Given the description of an element on the screen output the (x, y) to click on. 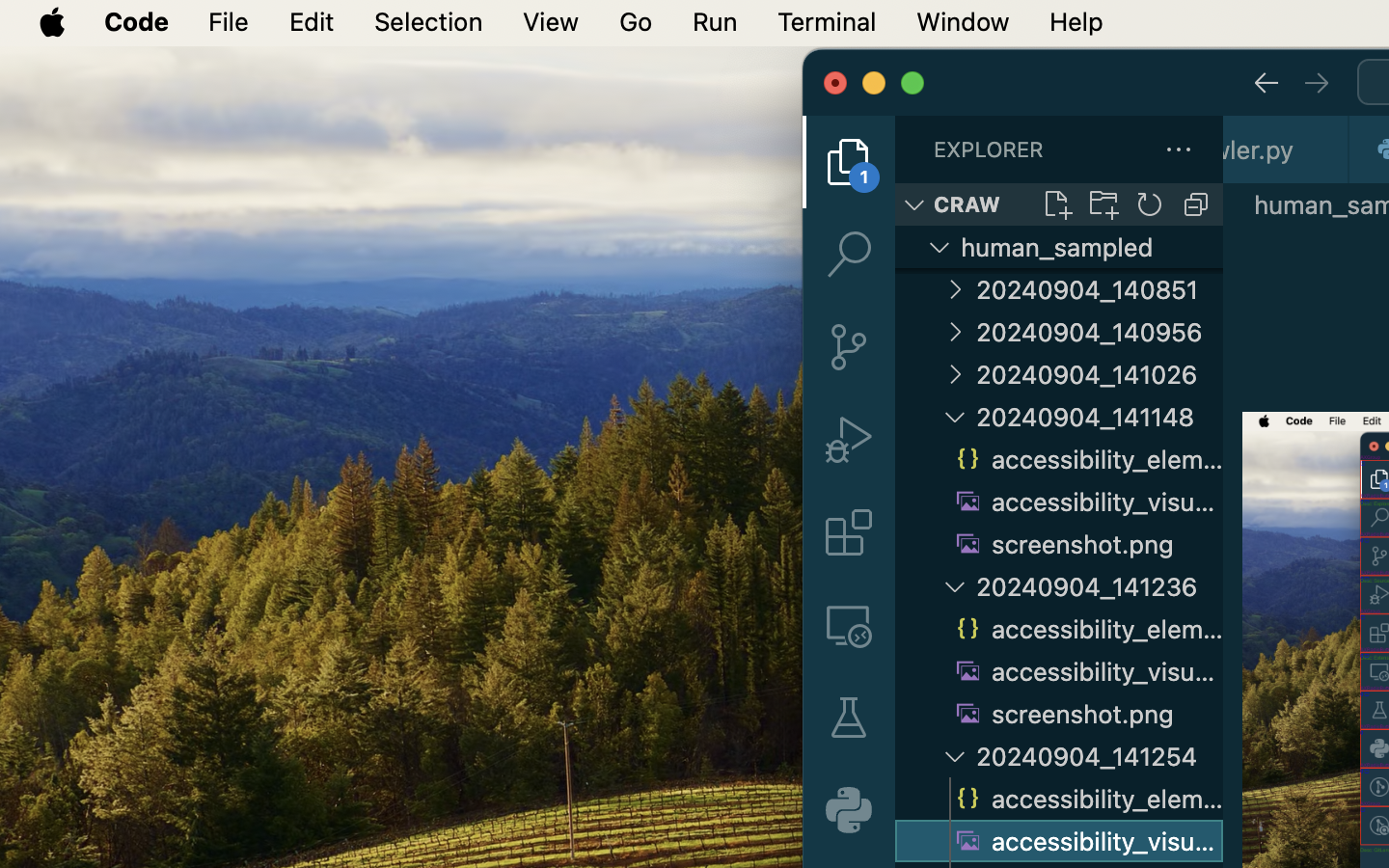
20240904_140834 human_sampled   Element type: AXGroup (1059, 246)
20240904_141026 Element type: AXGroup (1099, 373)
 Element type: AXStaticText (954, 331)
20240904_140956 Element type: AXGroup (1099, 331)
 Element type: AXGroup (848, 532)
